Given the description of an element on the screen output the (x, y) to click on. 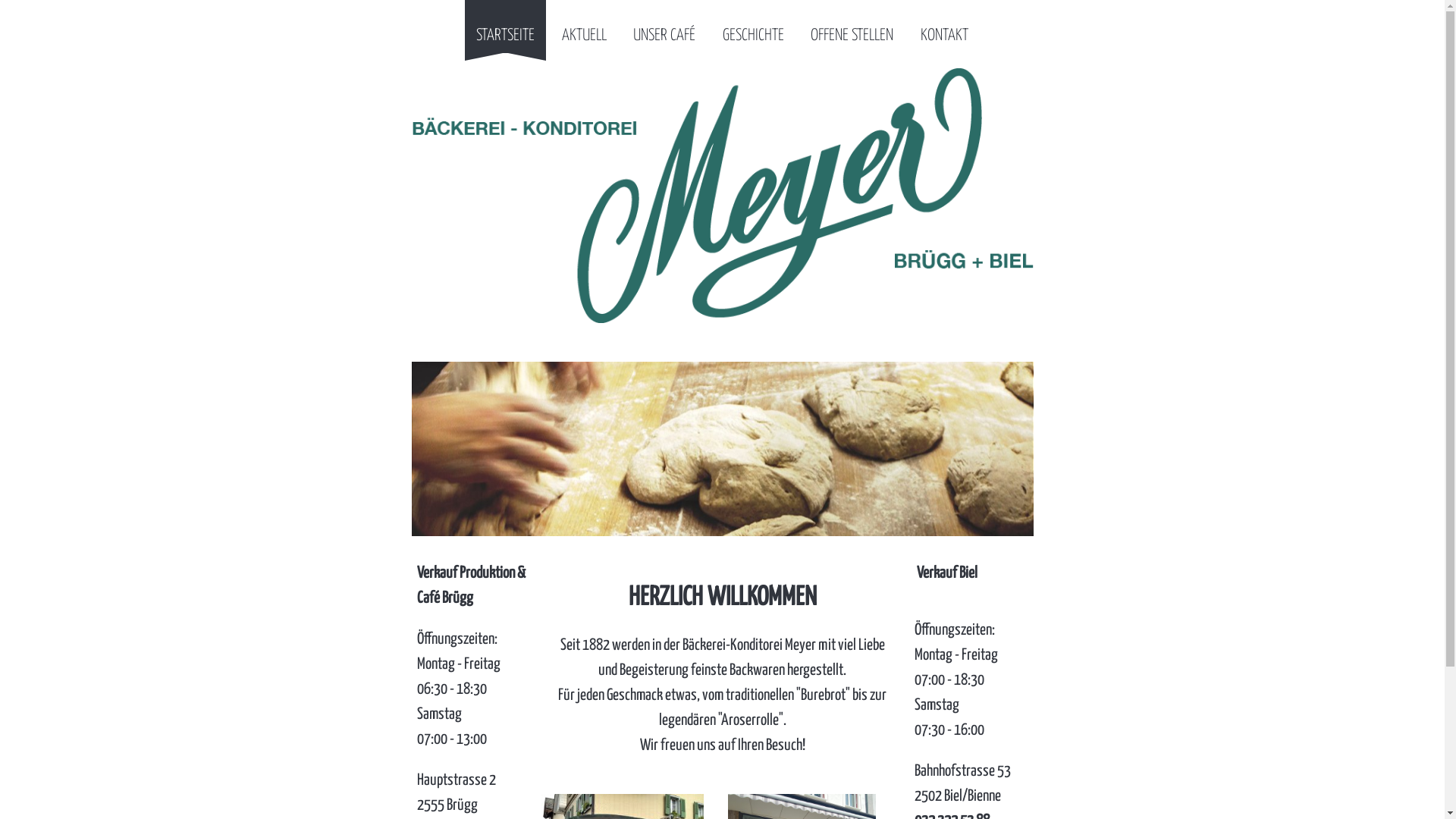
KONTAKT Element type: text (944, 26)
AKTUELL Element type: text (584, 26)
OFFENE STELLEN Element type: text (851, 26)
STARTSEITE Element type: text (505, 26)
GESCHICHTE Element type: text (753, 26)
